Given the description of an element on the screen output the (x, y) to click on. 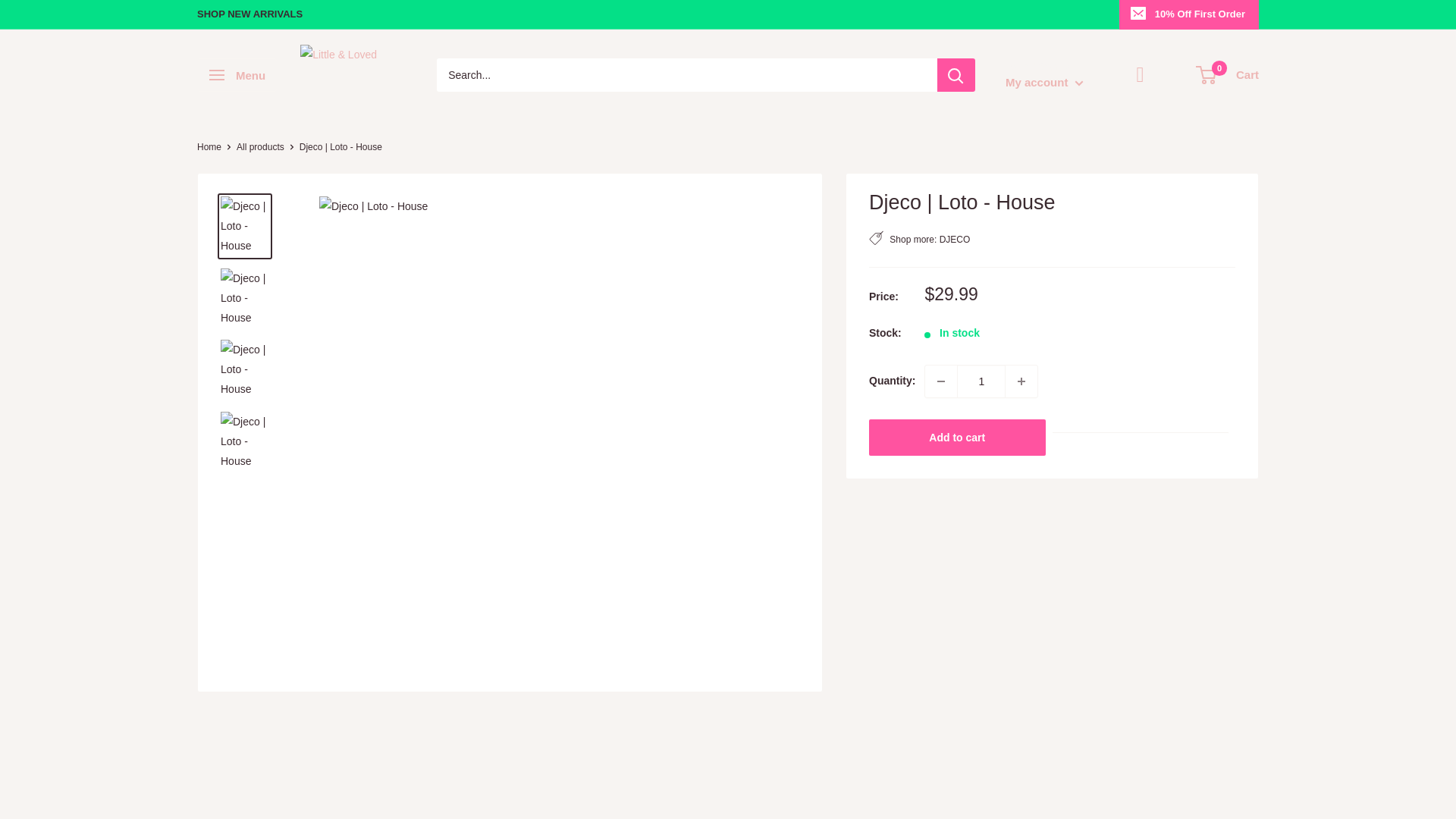
Increase quantity by 1 (1021, 381)
Decrease quantity by 1 (940, 381)
1 (981, 381)
SHOP NEW ARRIVALS (249, 14)
